Given the description of an element on the screen output the (x, y) to click on. 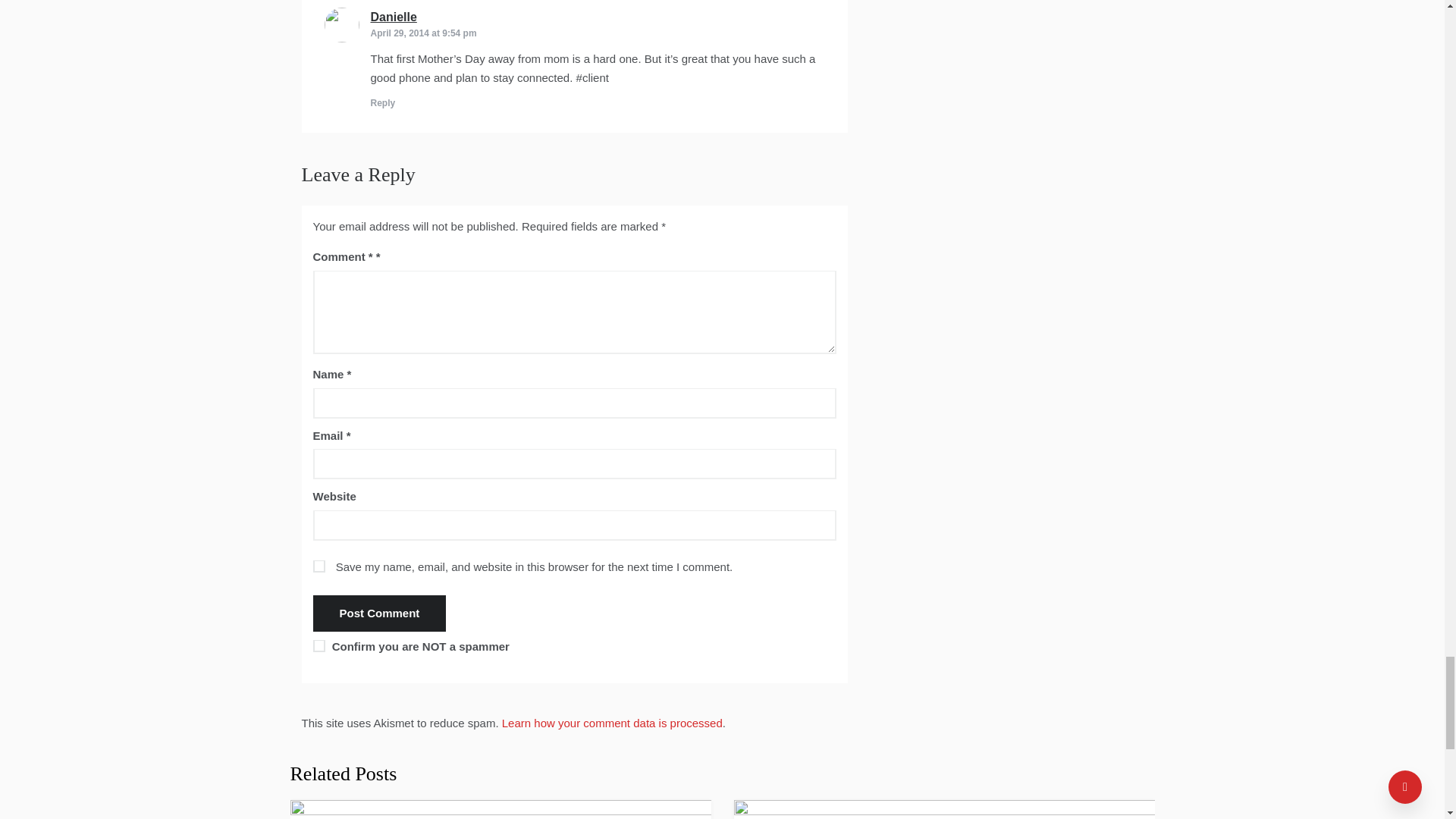
Danielle (392, 16)
on (318, 645)
Post Comment (379, 613)
yes (318, 566)
